Given the description of an element on the screen output the (x, y) to click on. 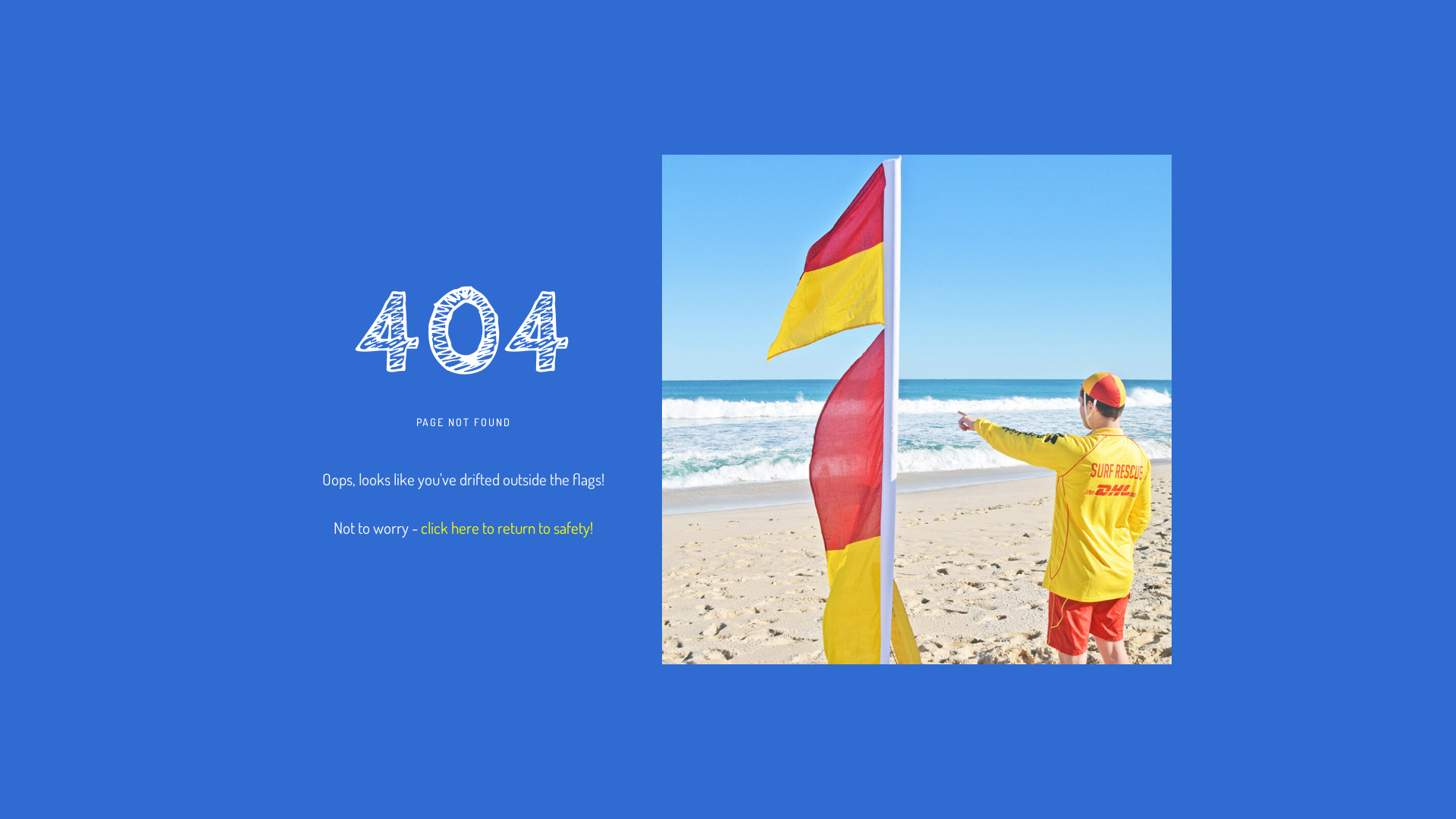
click here to return to safety! Element type: text (506, 527)
